Given the description of an element on the screen output the (x, y) to click on. 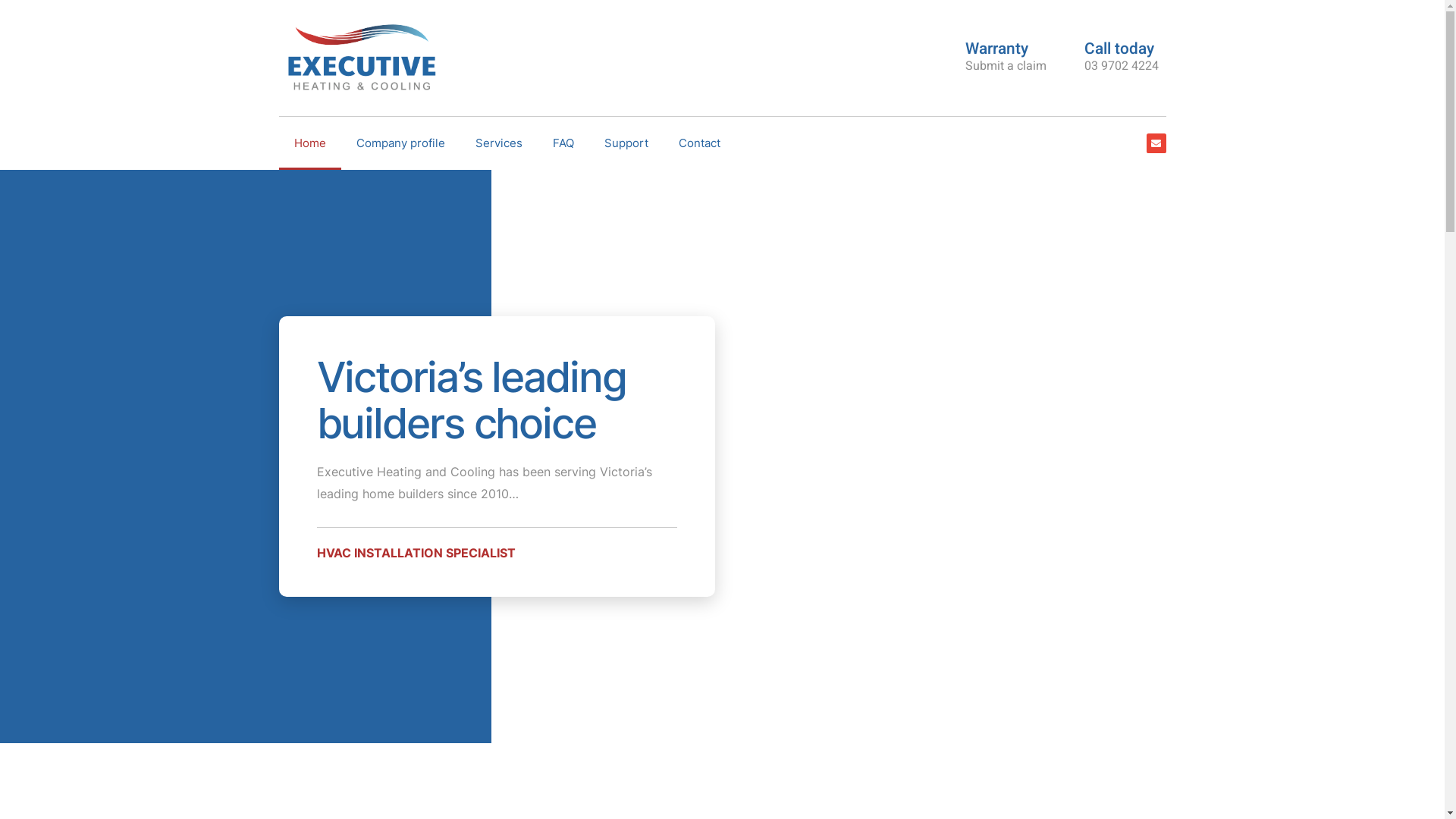
Warranty Element type: text (995, 48)
FAQ Element type: text (562, 142)
Support Element type: text (625, 142)
Company profile Element type: text (400, 142)
Home Element type: text (310, 142)
Services Element type: text (497, 142)
Contact Element type: text (698, 142)
